Given the description of an element on the screen output the (x, y) to click on. 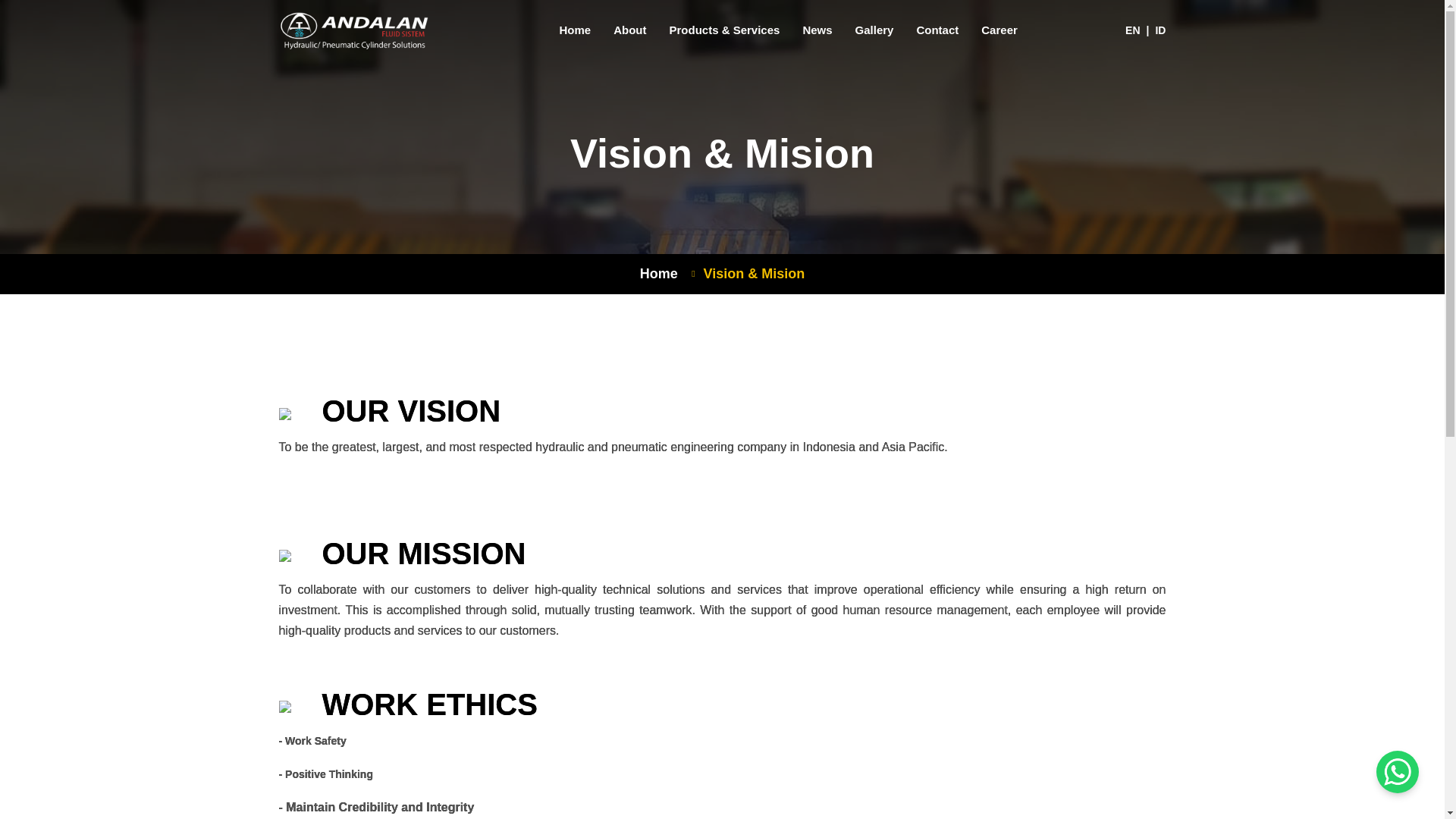
Andalan Fluid Sistem (354, 30)
EN (1132, 30)
